Given the description of an element on the screen output the (x, y) to click on. 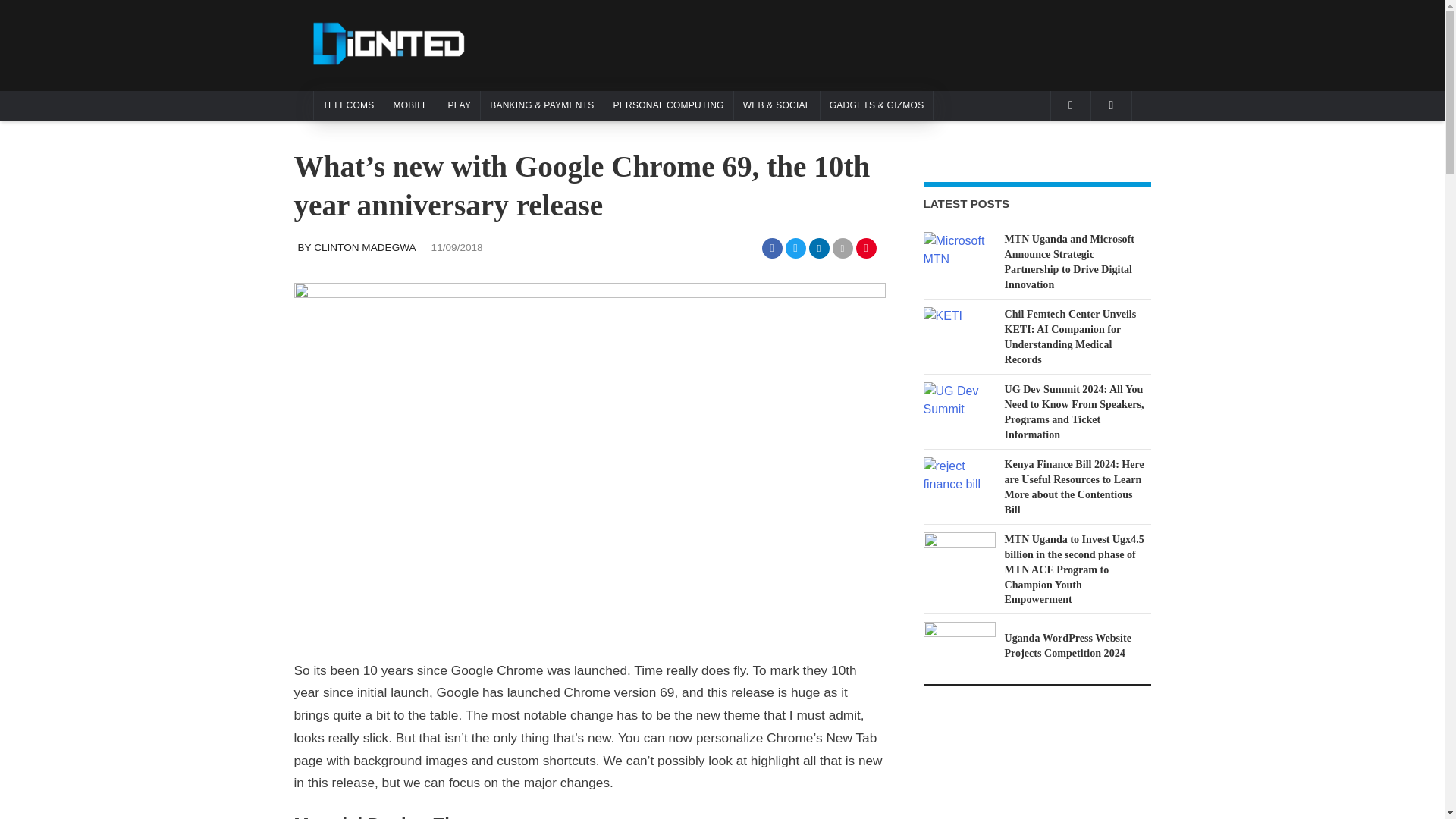
Share by Email (842, 248)
